Given the description of an element on the screen output the (x, y) to click on. 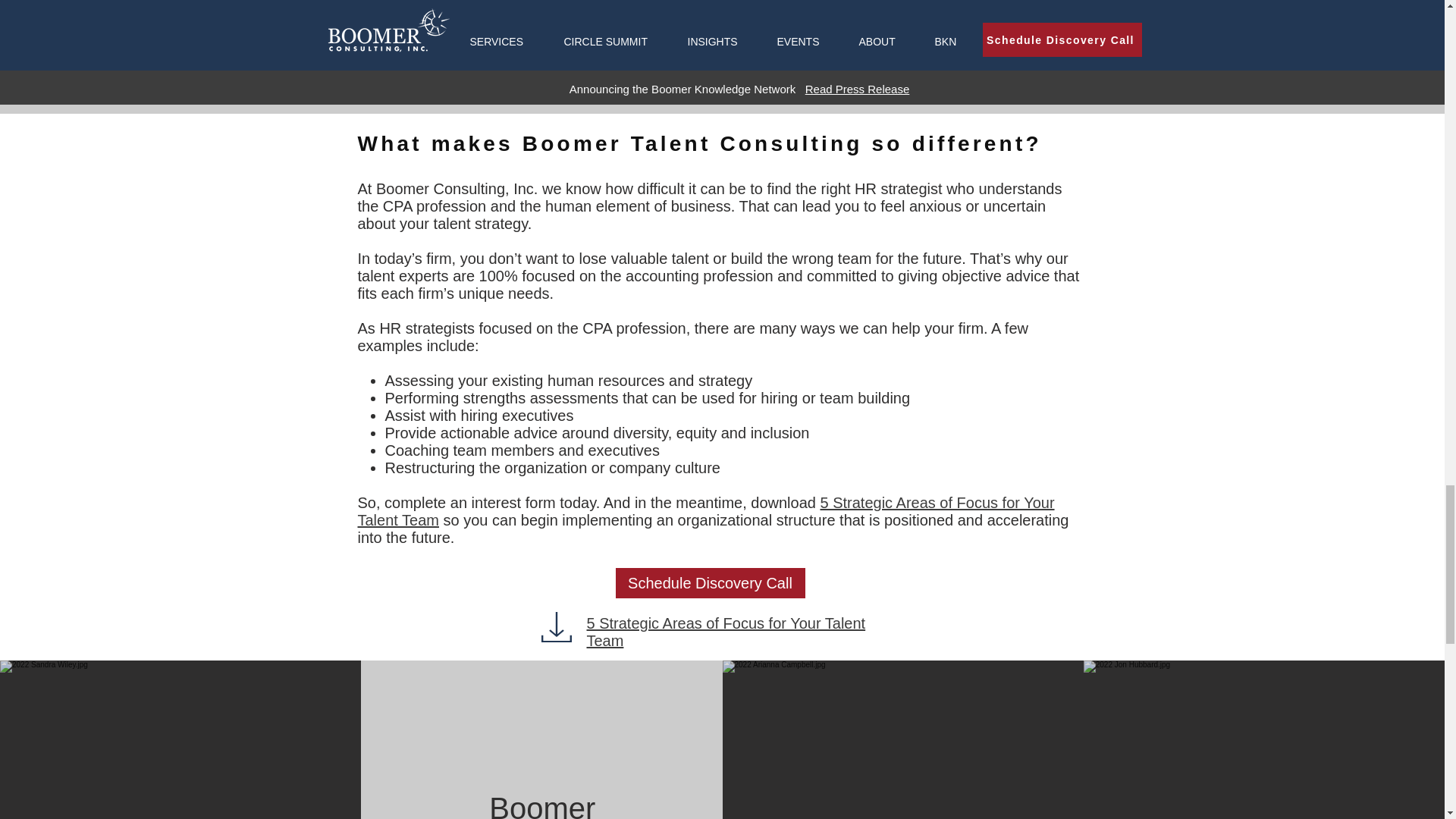
5 Strategic Areas of Focus for Your Talent Team (706, 511)
5 Strategic Areas of Focus for Your Talent Team (724, 44)
Schedule Discovery Call (710, 583)
